Given the description of an element on the screen output the (x, y) to click on. 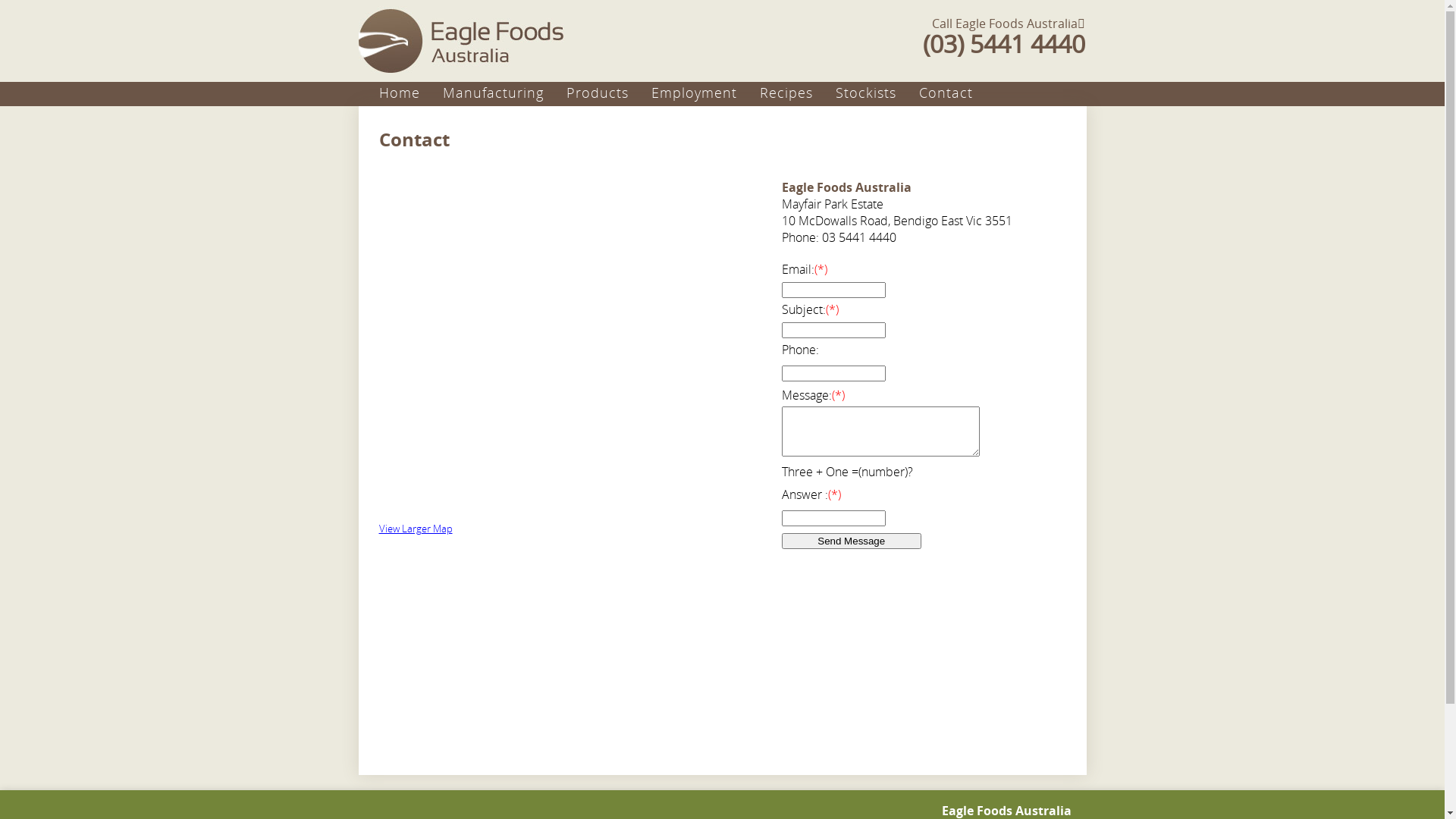
Home Element type: text (410, 92)
Products Element type: text (607, 92)
Manufacturing Element type: text (504, 92)
Recipes Element type: text (797, 92)
Employment Element type: text (704, 92)
Stockists Element type: text (877, 92)
Contact Element type: text (957, 92)
Send Message Element type: text (851, 541)
View Larger Map Element type: text (415, 528)
